Given the description of an element on the screen output the (x, y) to click on. 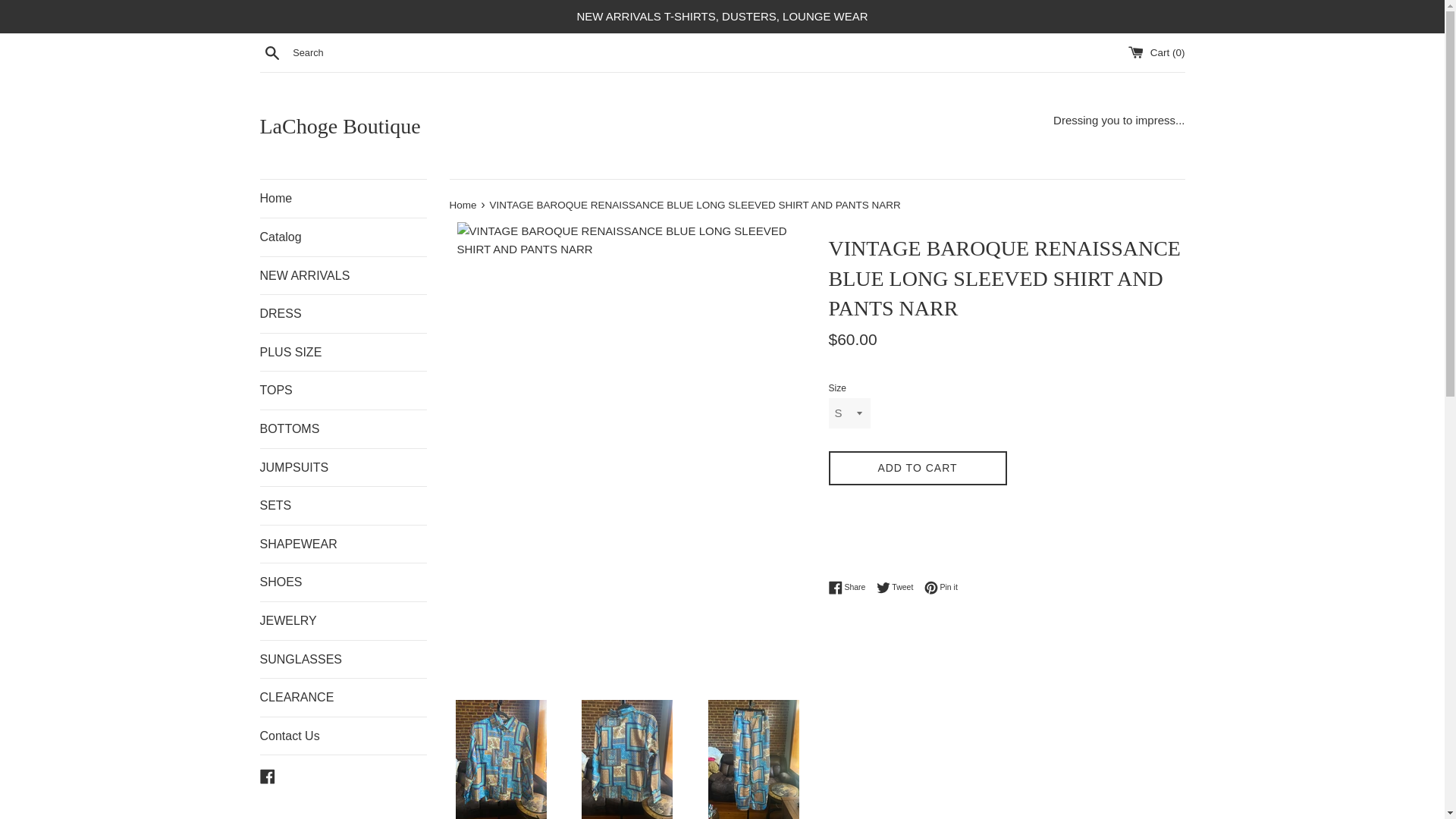
Home (463, 204)
Facebook (267, 775)
Tweet on Twitter (898, 587)
CLEARANCE (342, 697)
DRESS (342, 313)
TOPS (342, 390)
Back to the frontpage (463, 204)
JEWELRY (342, 620)
SHOES (342, 582)
SHAPEWEAR (342, 544)
